Given the description of an element on the screen output the (x, y) to click on. 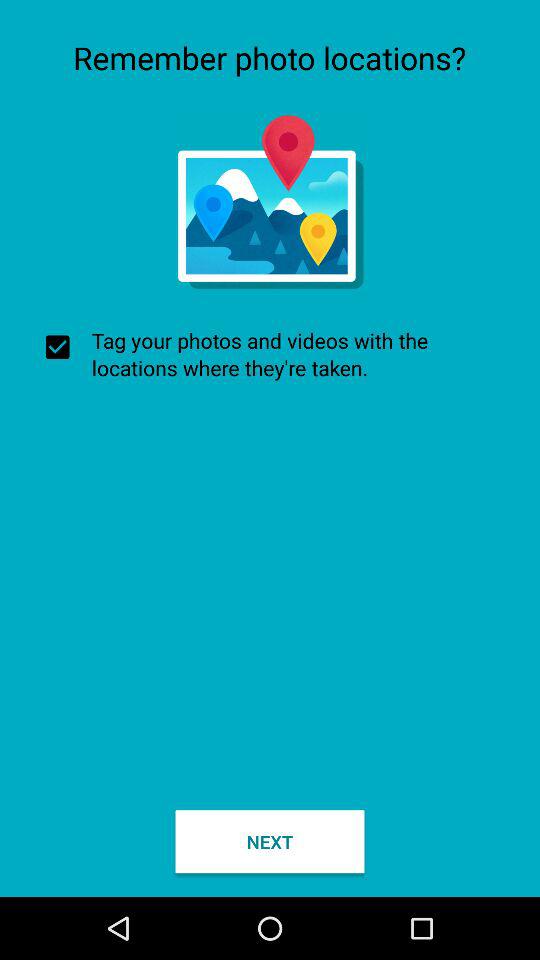
click the next icon (269, 841)
